Given the description of an element on the screen output the (x, y) to click on. 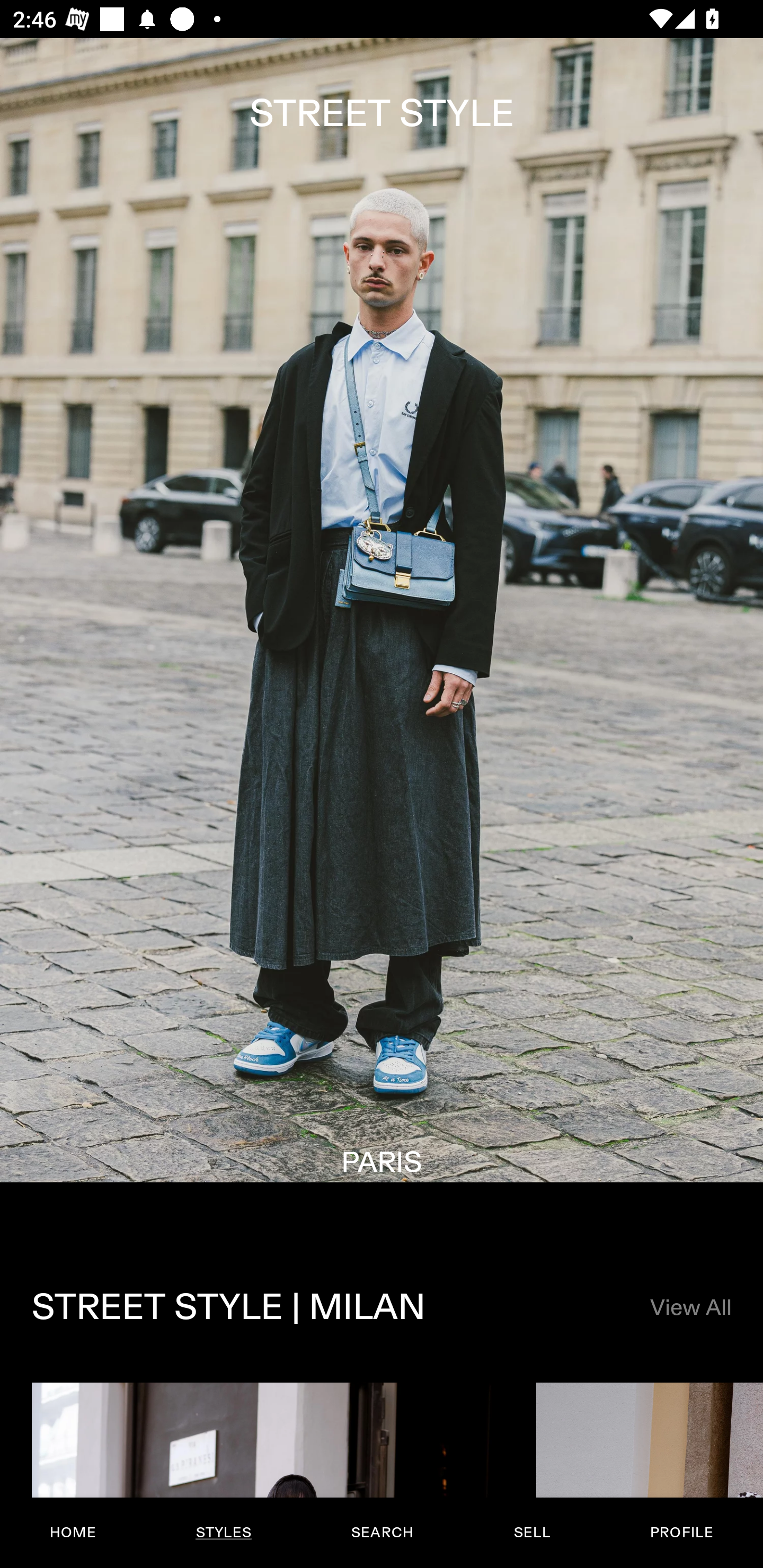
View All (690, 1308)
HOME (72, 1532)
STYLES (222, 1532)
SEARCH (381, 1532)
SELL (531, 1532)
PROFILE (681, 1532)
